Given the description of an element on the screen output the (x, y) to click on. 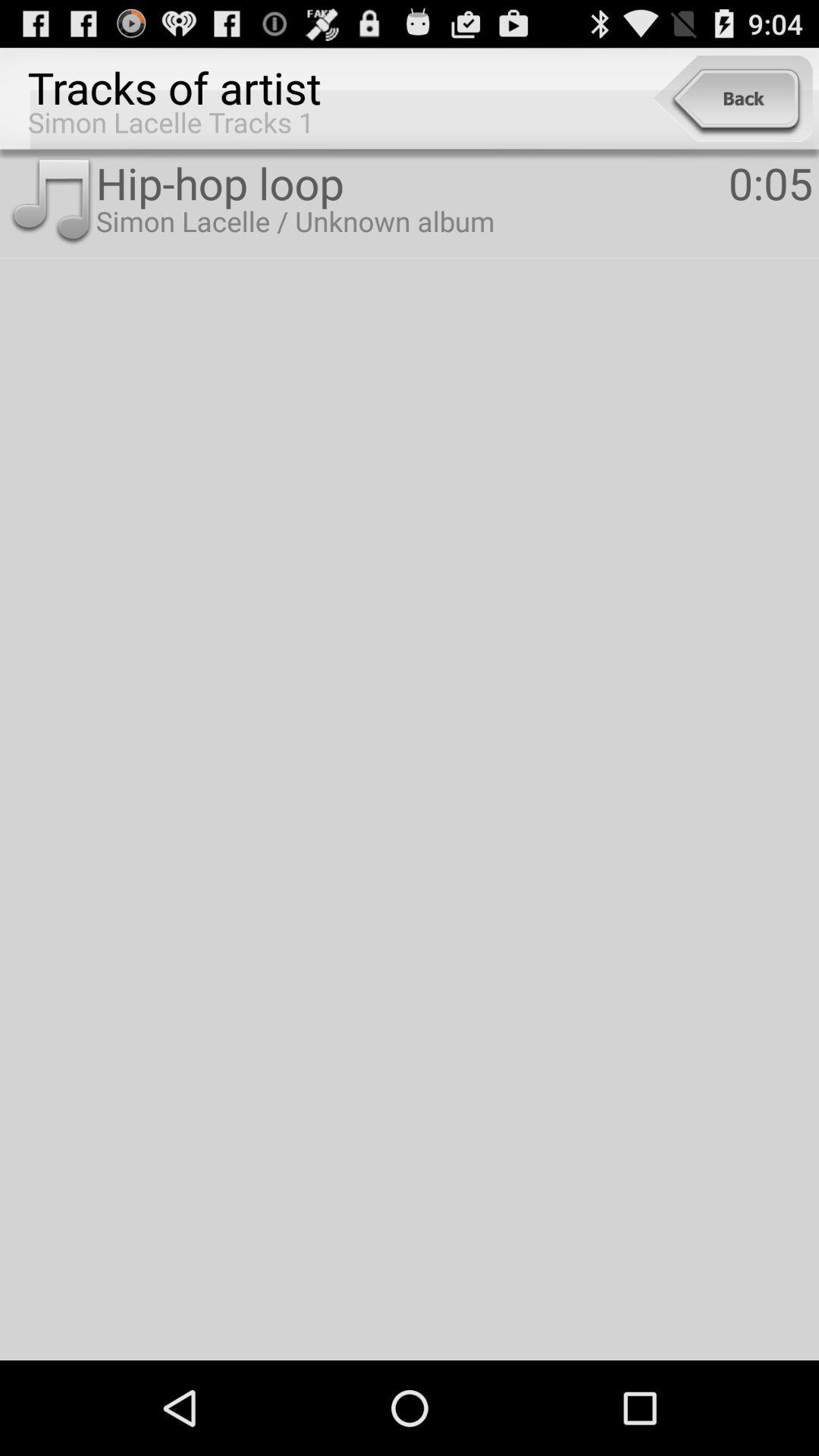
swipe until the 0:05 icon (770, 182)
